Given the description of an element on the screen output the (x, y) to click on. 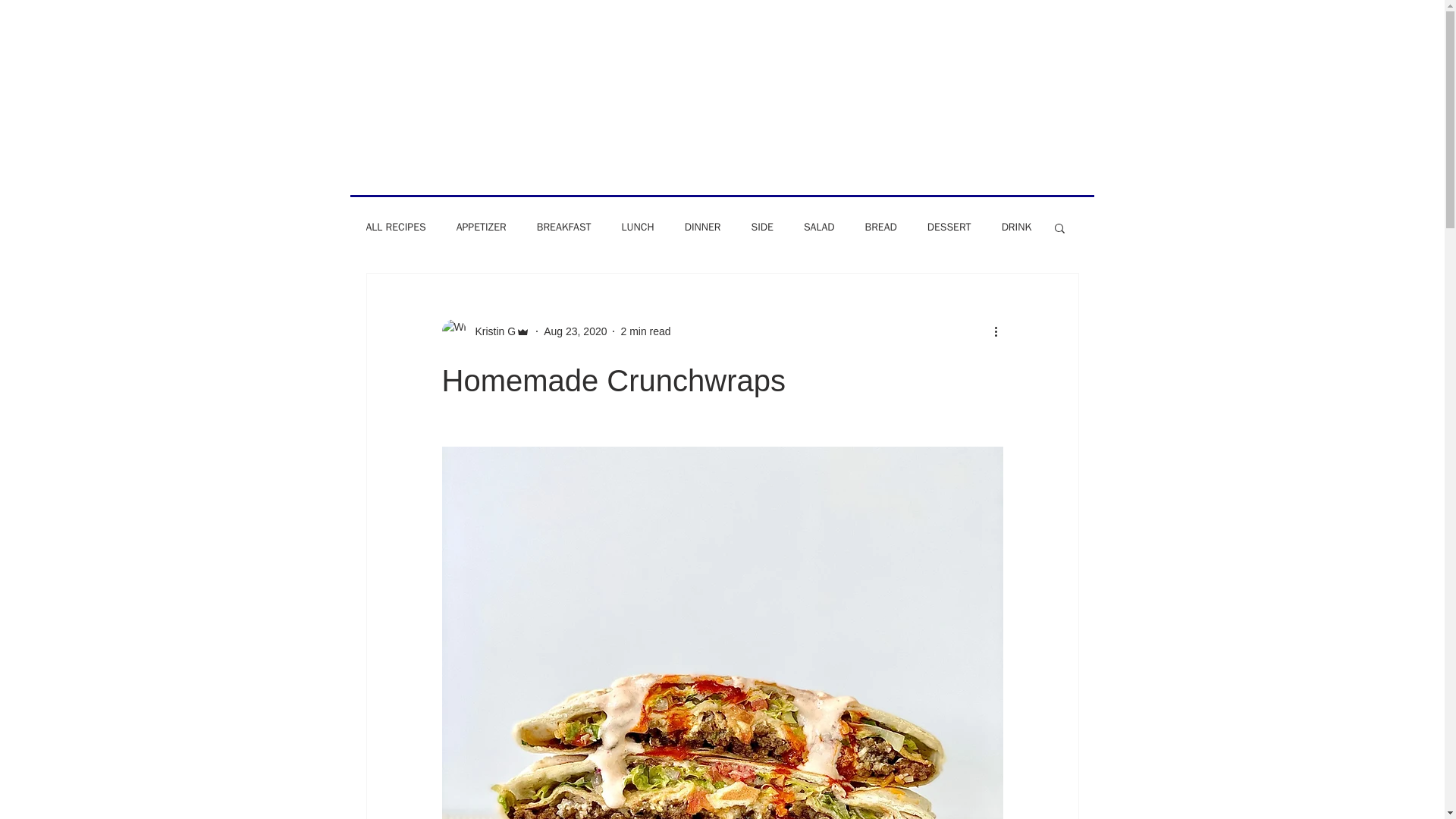
ALL RECIPES (395, 227)
SIDE (762, 227)
Aug 23, 2020 (575, 330)
BREAKFAST (564, 227)
DINNER (702, 227)
BREAD (880, 227)
DRINK (1015, 227)
APPETIZER (481, 227)
LUNCH (637, 227)
2 min read (644, 330)
SALAD (818, 227)
DESSERT (949, 227)
Kristin G (490, 330)
